Given the description of an element on the screen output the (x, y) to click on. 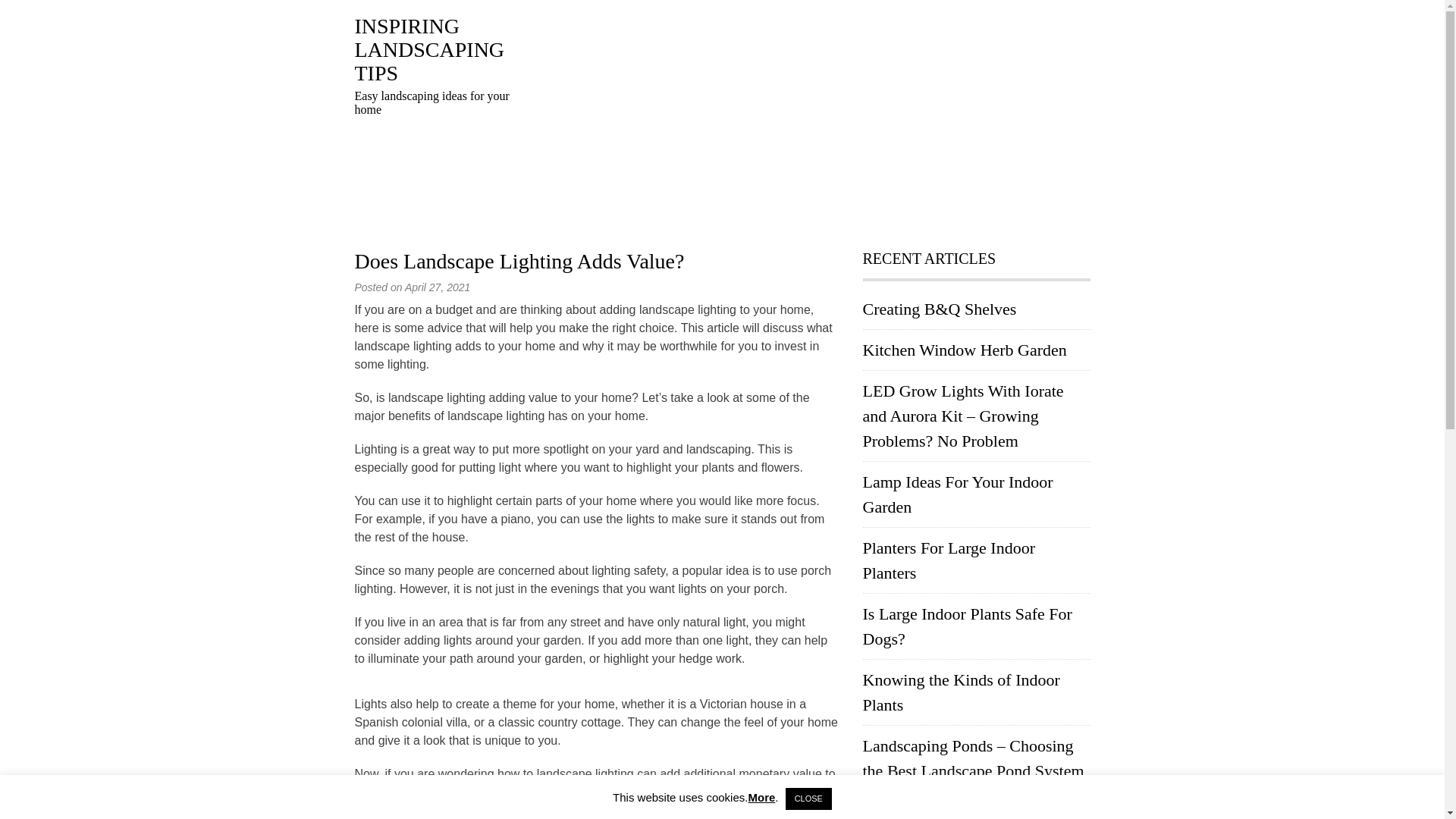
Advertisement (809, 121)
INSPIRING LANDSCAPING TIPS (430, 49)
Lamp Ideas For Your Indoor Garden (957, 494)
Kitchen Window Herb Garden (965, 349)
CLOSE (808, 798)
April 27, 2021 (437, 287)
Planters For Large Indoor Planters (949, 560)
Is Large Indoor Plants Safe For Dogs? (967, 626)
Easy landscaping ideas for your home (430, 49)
Knowing the Kinds of Indoor Plants (961, 692)
More (761, 797)
